Given the description of an element on the screen output the (x, y) to click on. 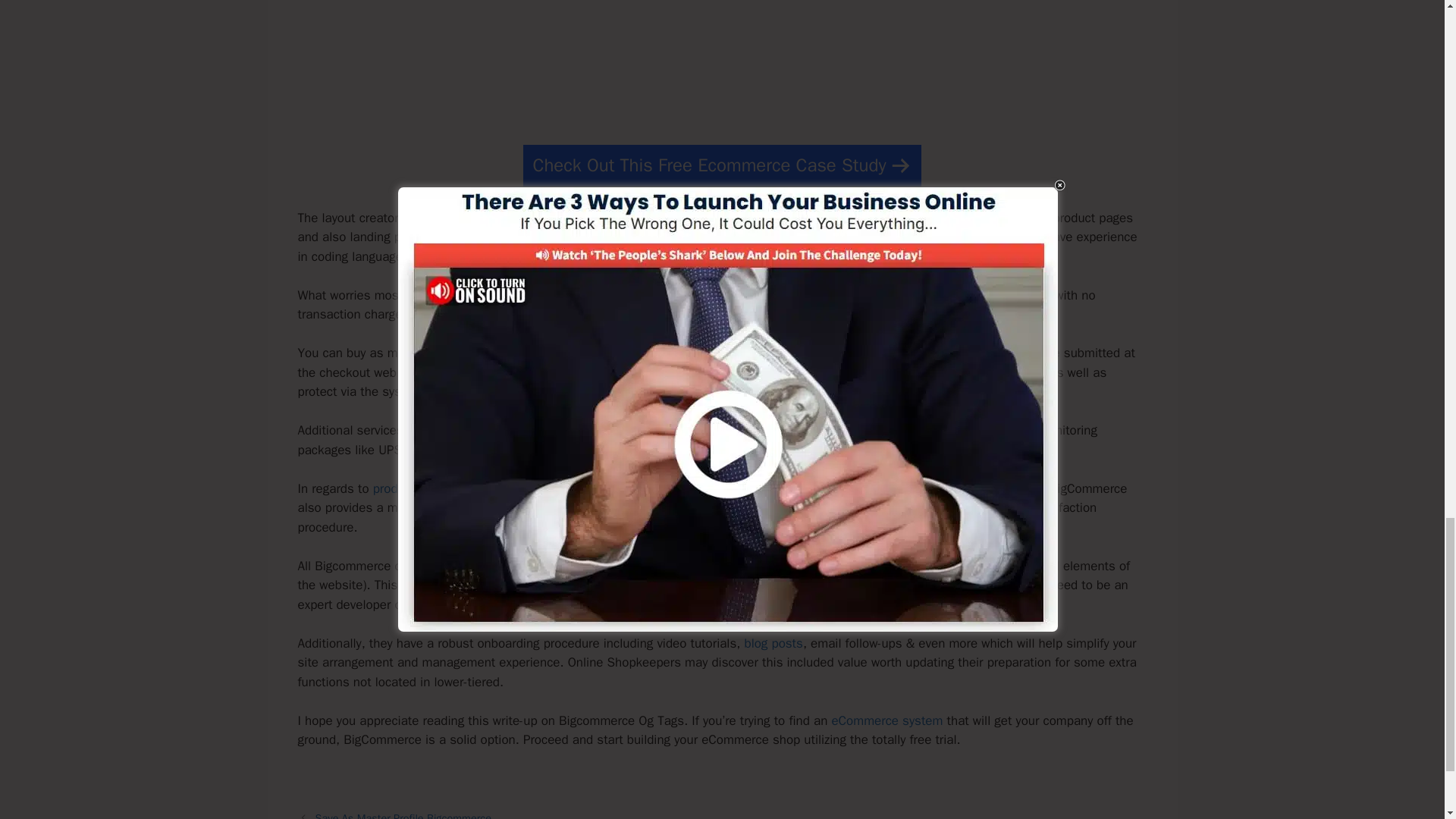
knowledgebase (655, 584)
eCommerce system (886, 720)
Save As Master Profile Bigcommerce (403, 815)
product variants (417, 488)
blog posts (773, 643)
Check Out This Free Ecommerce Case Study (721, 165)
